Given the description of an element on the screen output the (x, y) to click on. 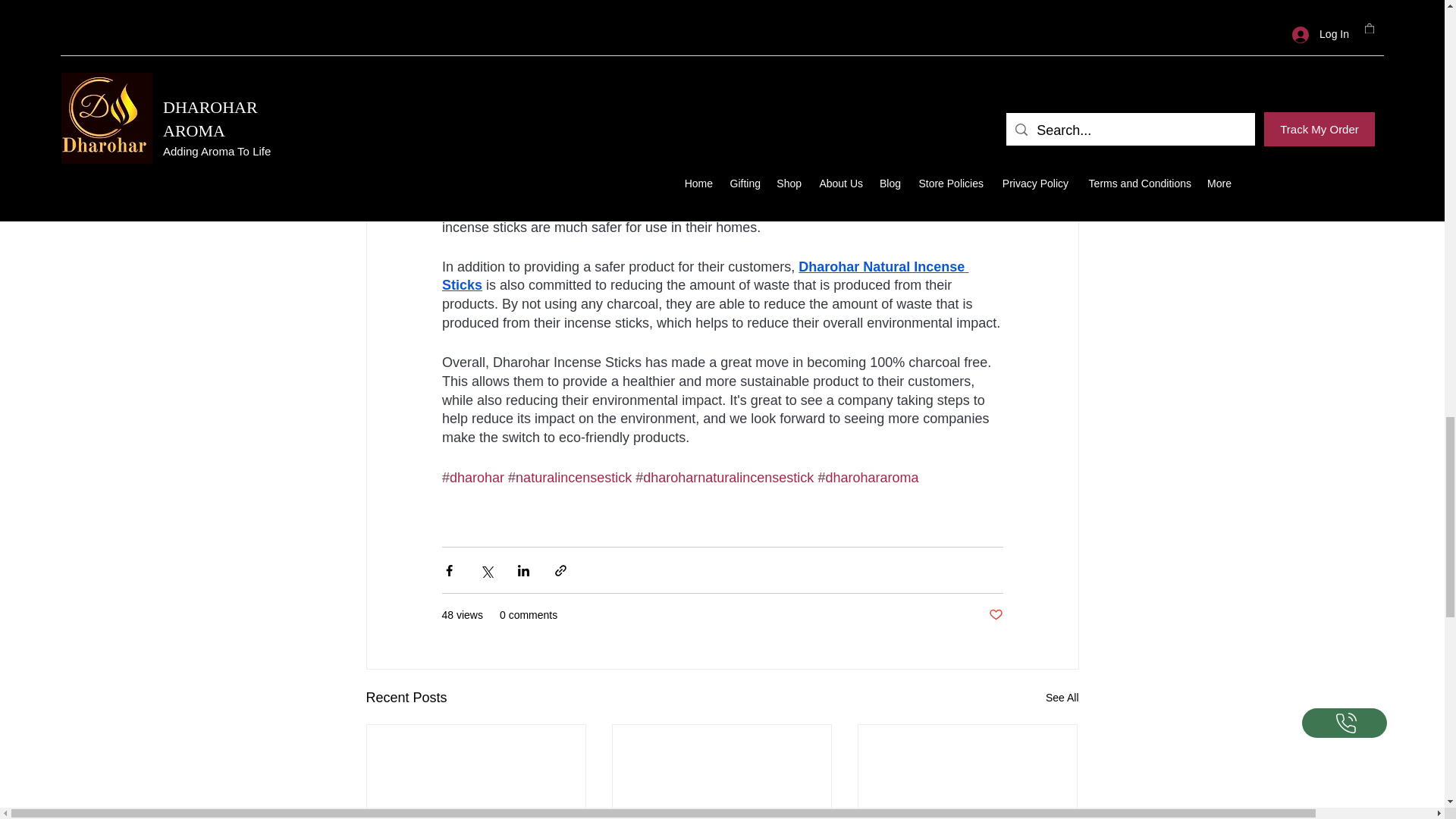
Post not marked as liked (995, 615)
See All (1061, 698)
Dharohar Natural Incense Sticks (704, 276)
